Given the description of an element on the screen output the (x, y) to click on. 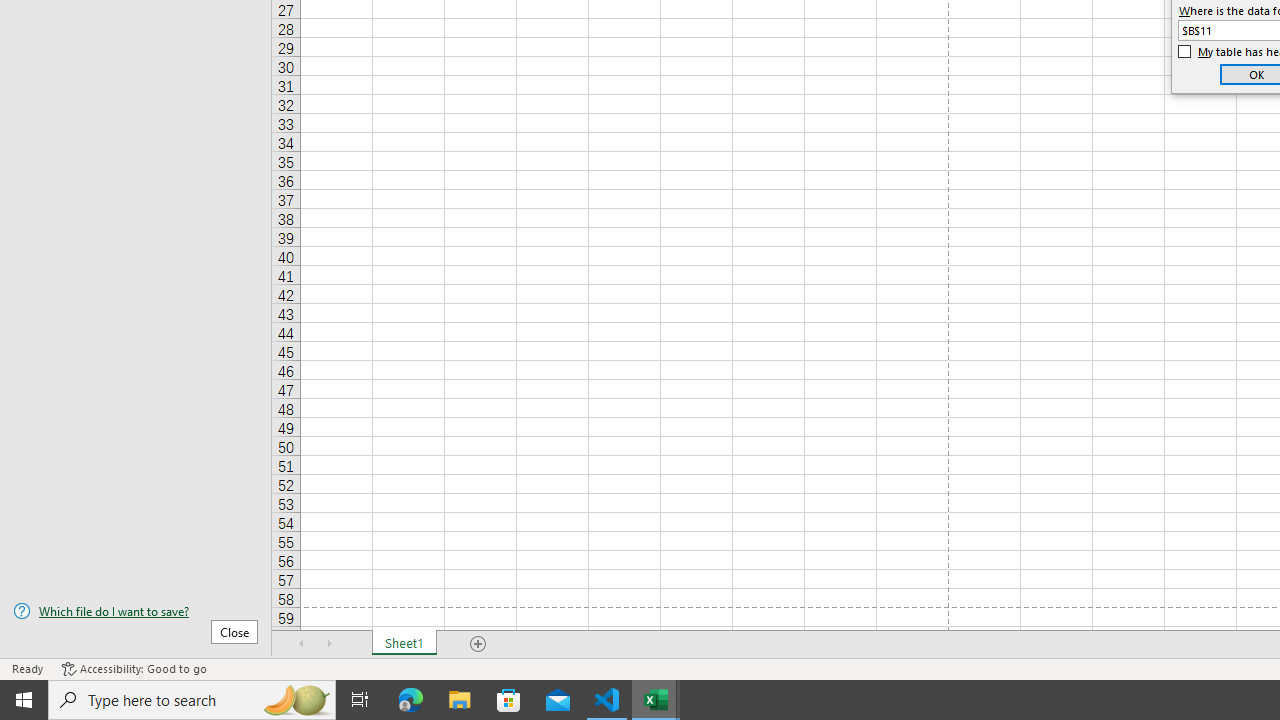
Which file do I want to save? (136, 611)
